Given the description of an element on the screen output the (x, y) to click on. 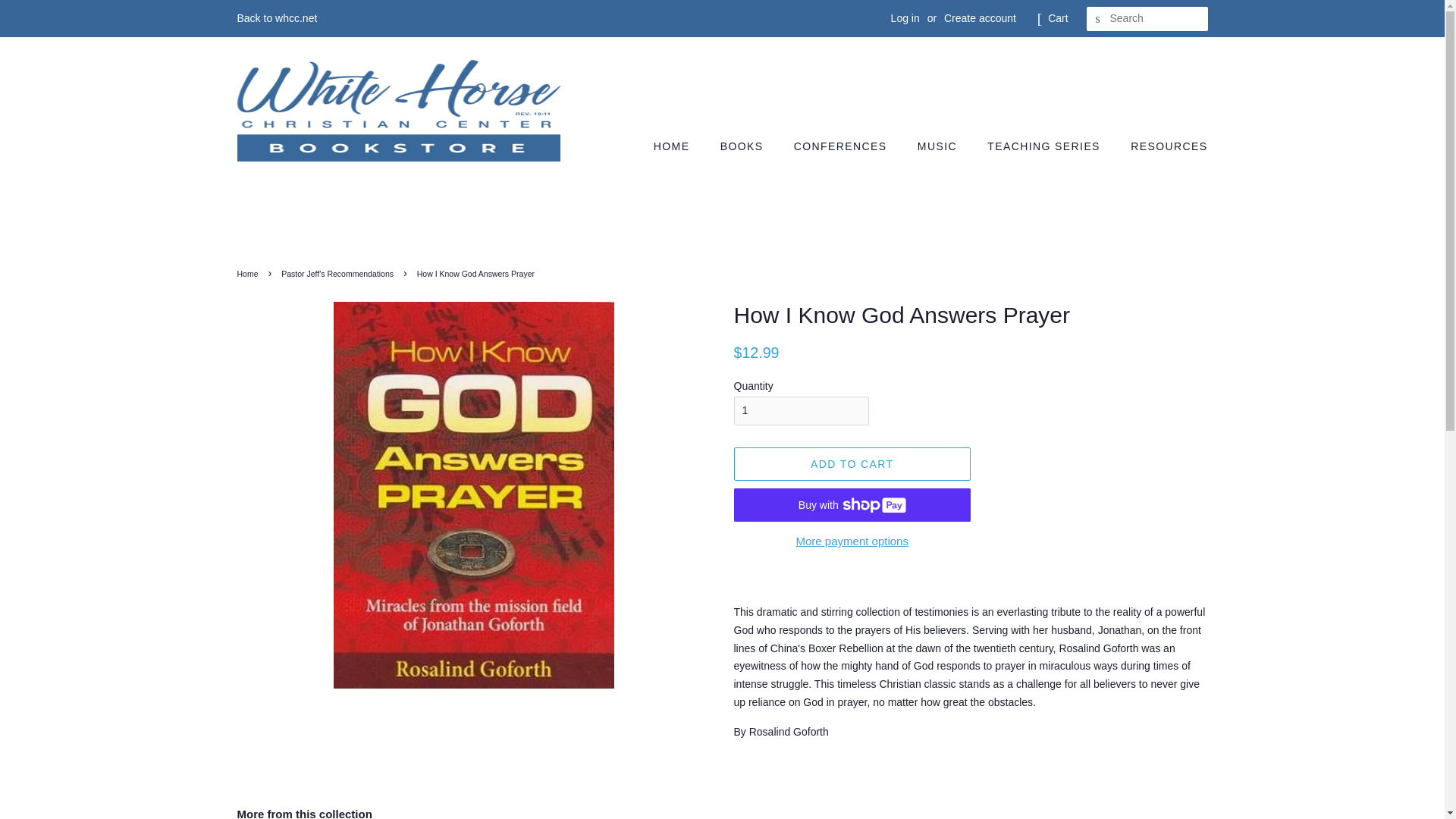
BOOKS (743, 146)
Home (248, 273)
CONFERENCES (842, 146)
Log in (905, 18)
Create account (979, 18)
MUSIC (938, 146)
1 (801, 410)
ADD TO CART (852, 463)
RESOURCES (1163, 146)
TEACHING SERIES (1045, 146)
